Given the description of an element on the screen output the (x, y) to click on. 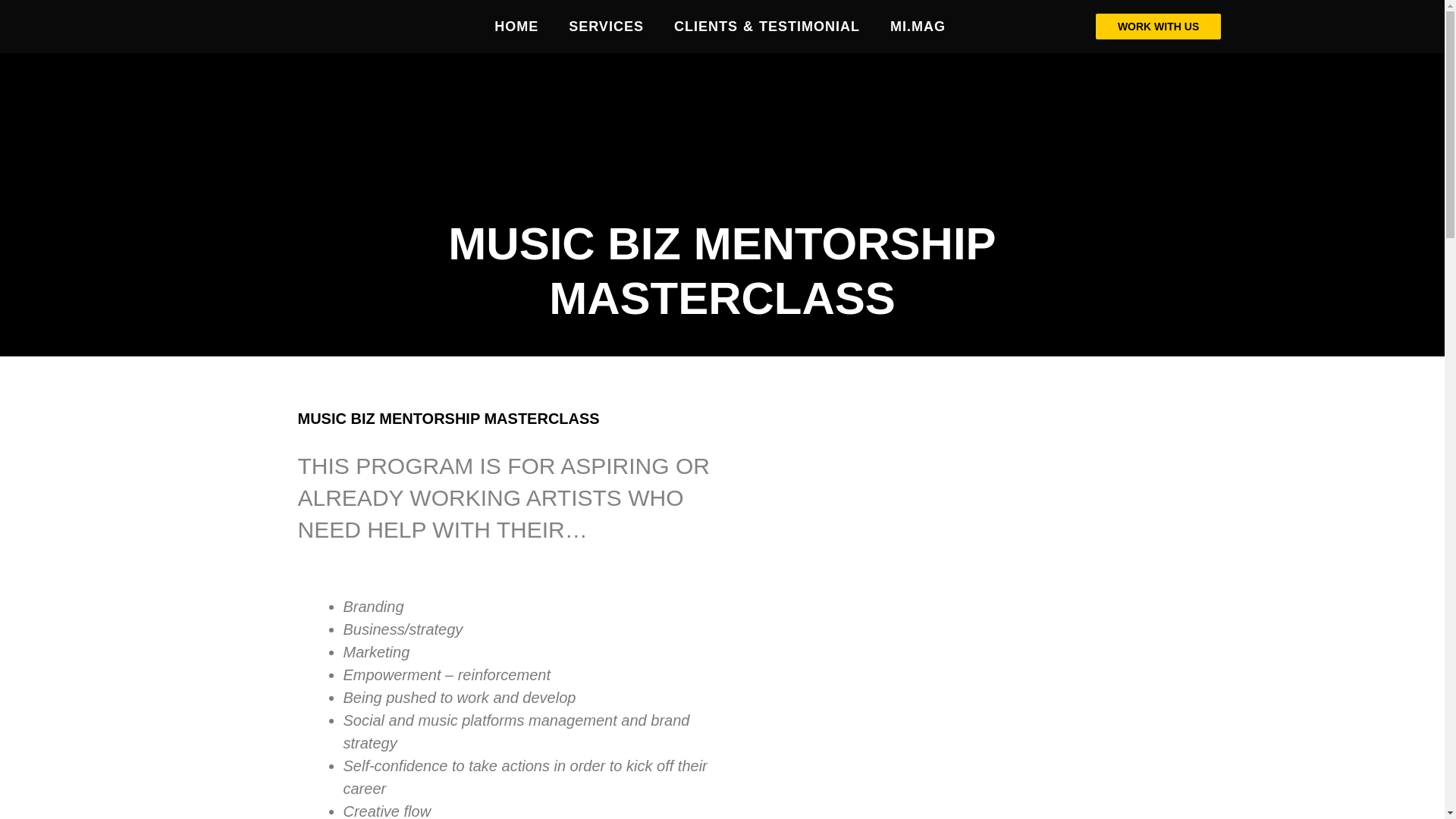
SERVICES (606, 26)
HOME (516, 26)
WORK WITH US (1158, 26)
MI.MAG (917, 26)
